Given the description of an element on the screen output the (x, y) to click on. 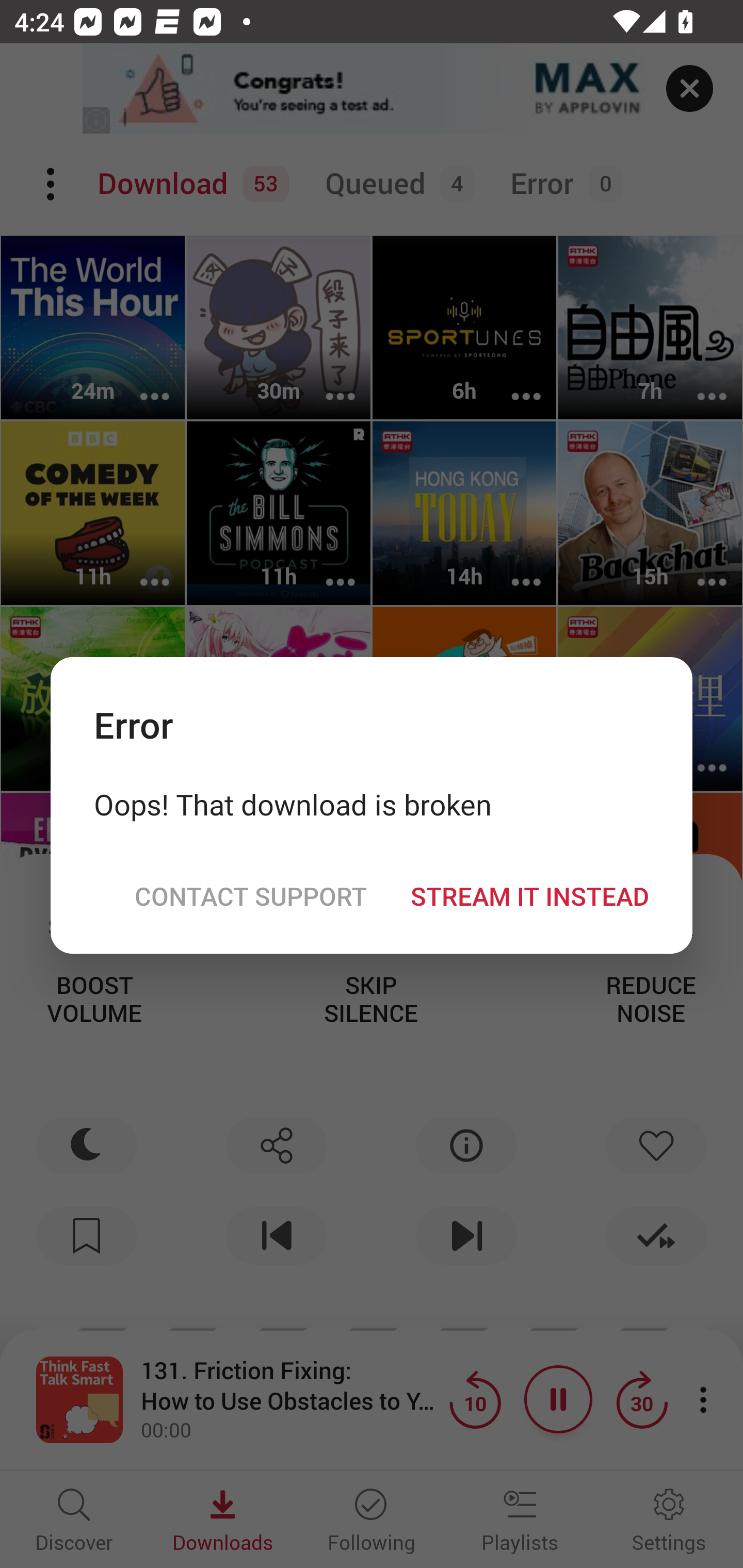
CONTACT SUPPORT (250, 895)
STREAM IT INSTEAD (529, 895)
